Given the description of an element on the screen output the (x, y) to click on. 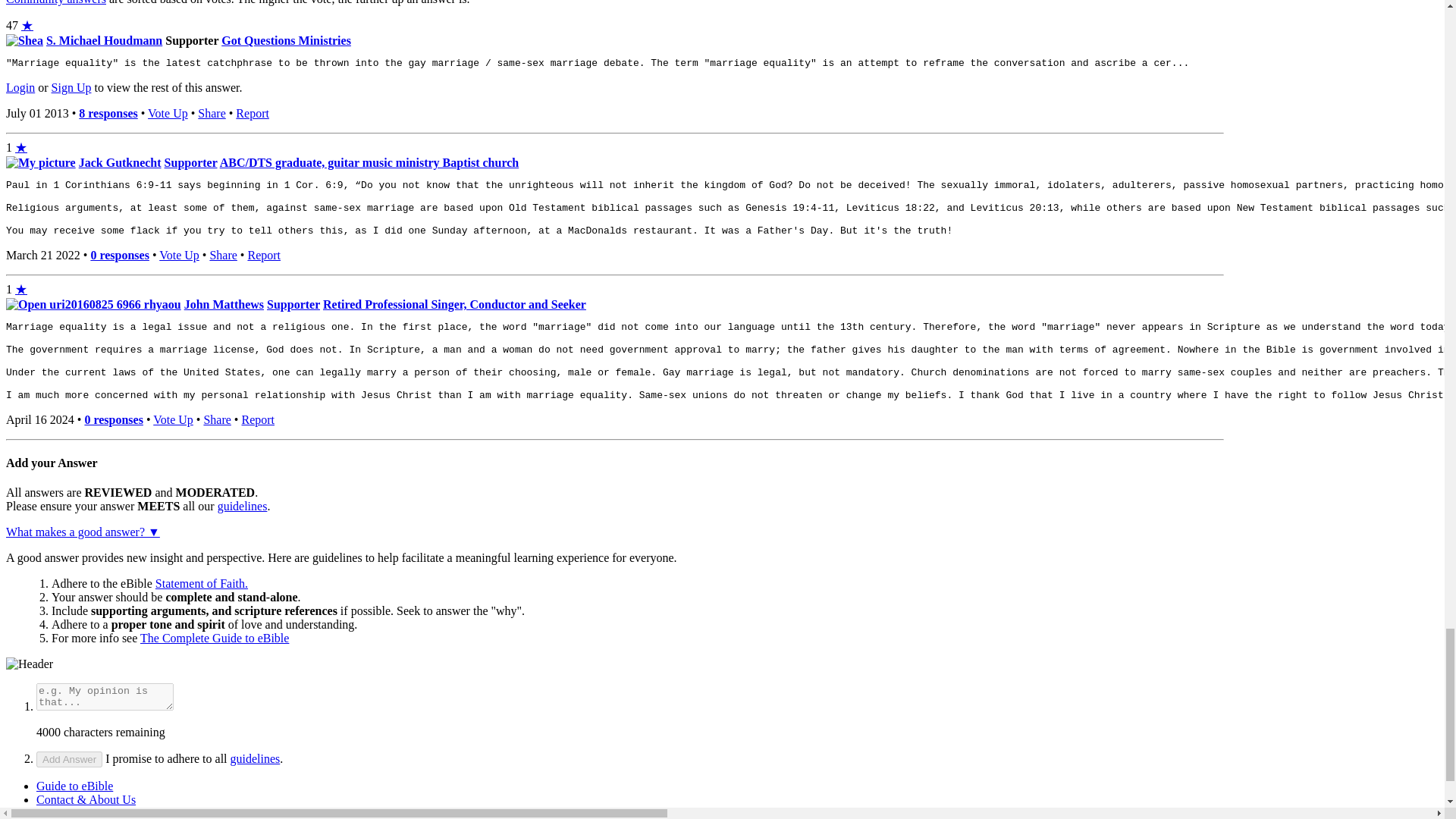
Vote Up (178, 254)
Vote Up (167, 113)
Add Answer (68, 759)
Vote Up (172, 419)
